Given the description of an element on the screen output the (x, y) to click on. 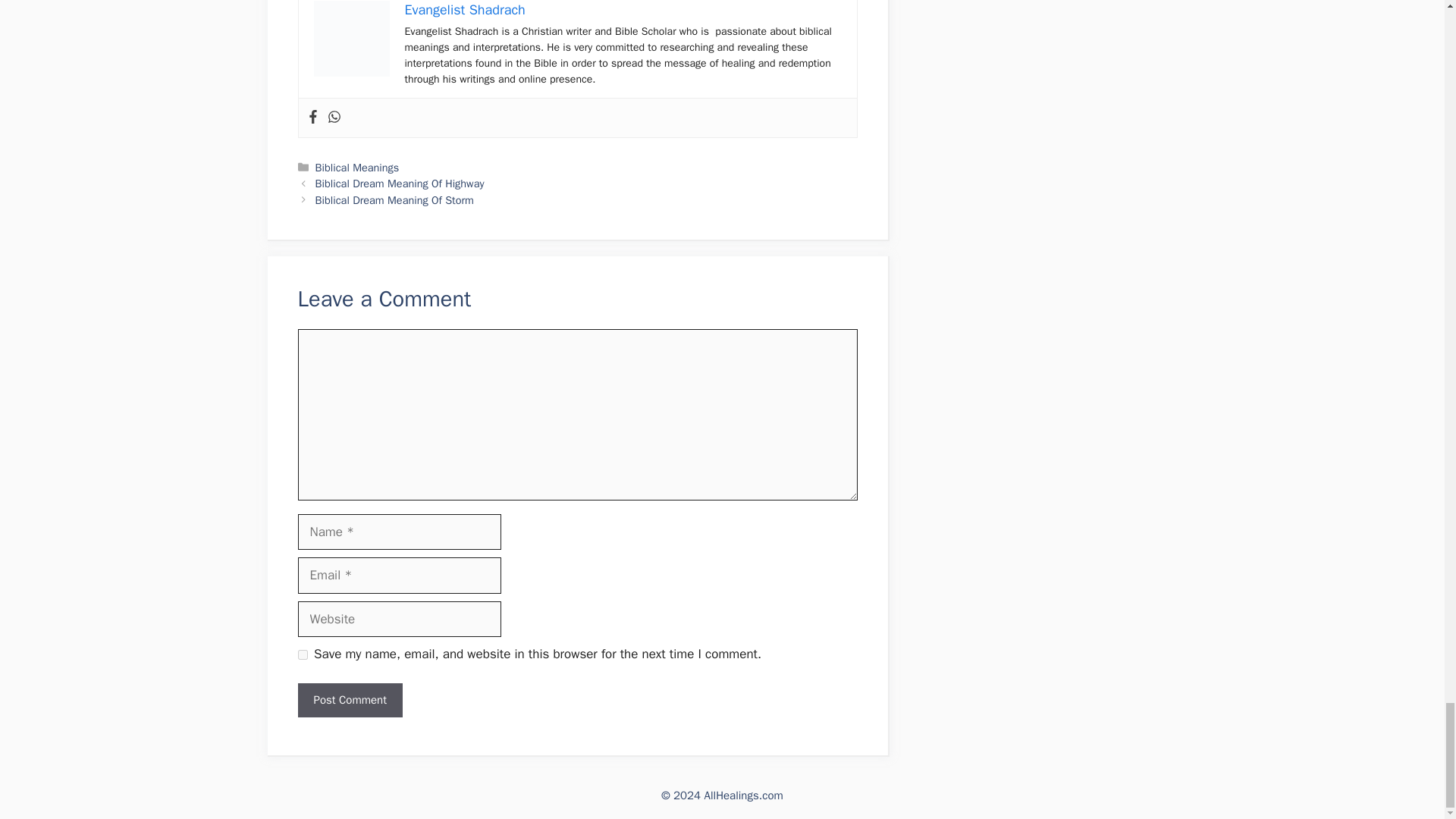
Post Comment (349, 700)
Evangelist Shadrach (464, 9)
Post Comment (349, 700)
Biblical Dream Meaning Of Storm (394, 200)
yes (302, 655)
Biblical Meanings (356, 167)
Biblical Dream Meaning Of Highway (399, 183)
